Given the description of an element on the screen output the (x, y) to click on. 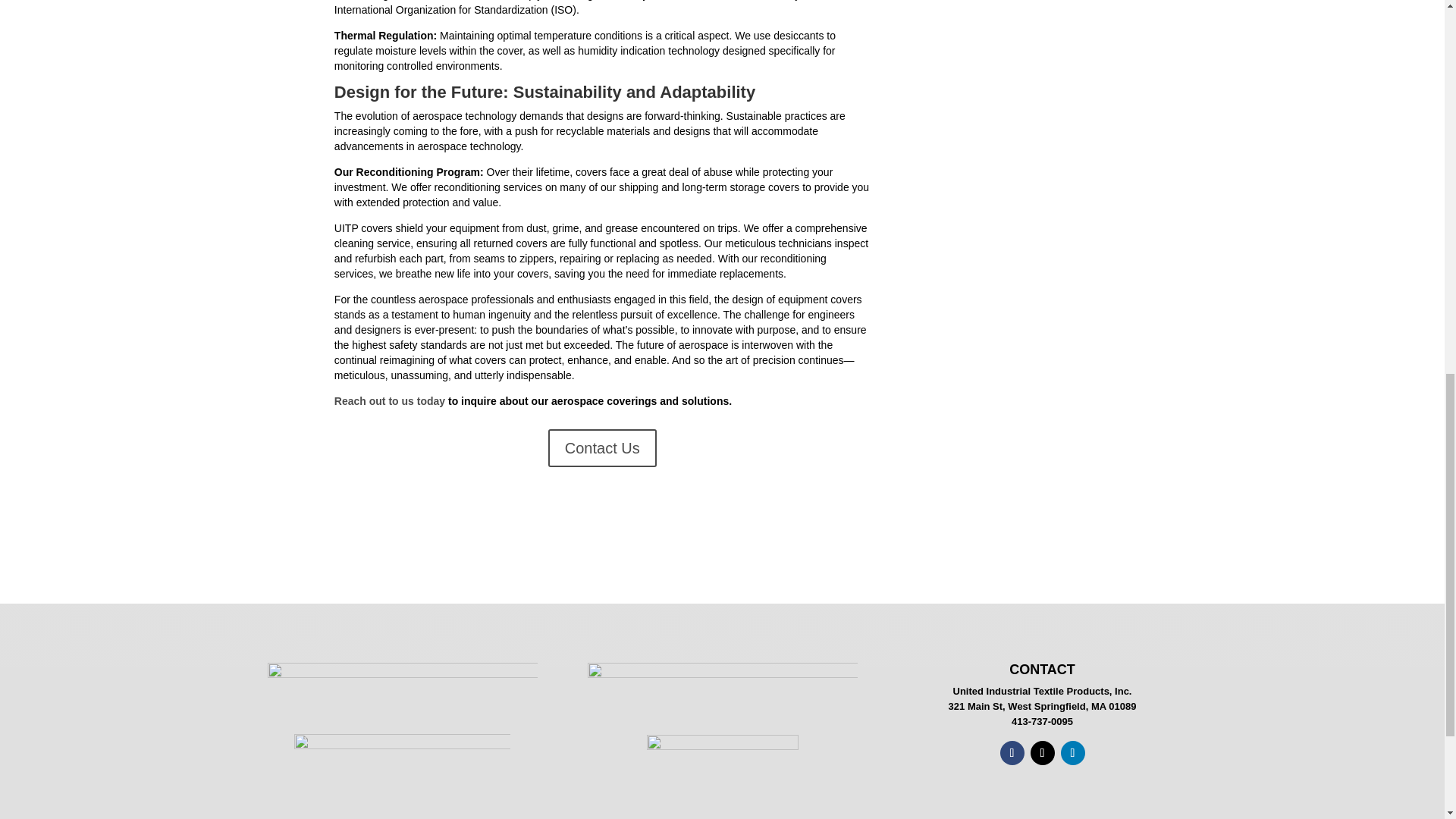
321 Main St, West Springfield, MA 01089 (1043, 706)
Contact Us (602, 447)
Follow on LinkedIn (1071, 752)
Follow on Facebook (1010, 752)
MadeInUSA (402, 776)
FooterBadges (721, 686)
bbb-horizontal-web (721, 768)
Reach out to us today (389, 400)
Horizontal Logo (401, 690)
413-737-0095 (1042, 721)
